Given the description of an element on the screen output the (x, y) to click on. 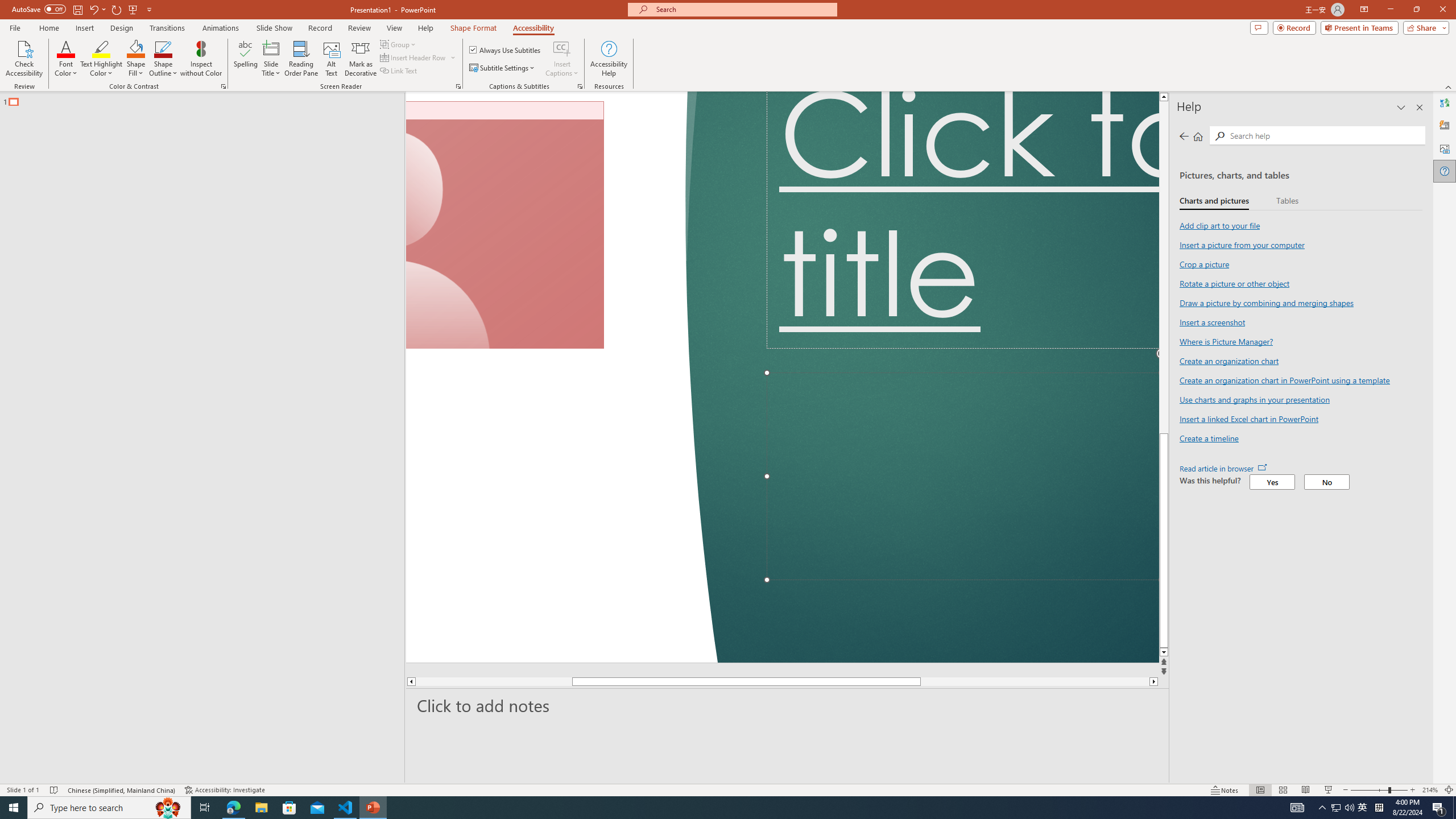
Crop a picture (1203, 263)
Insert a linked Excel chart in PowerPoint (1248, 418)
Insert a picture from your computer (1241, 244)
